Given the description of an element on the screen output the (x, y) to click on. 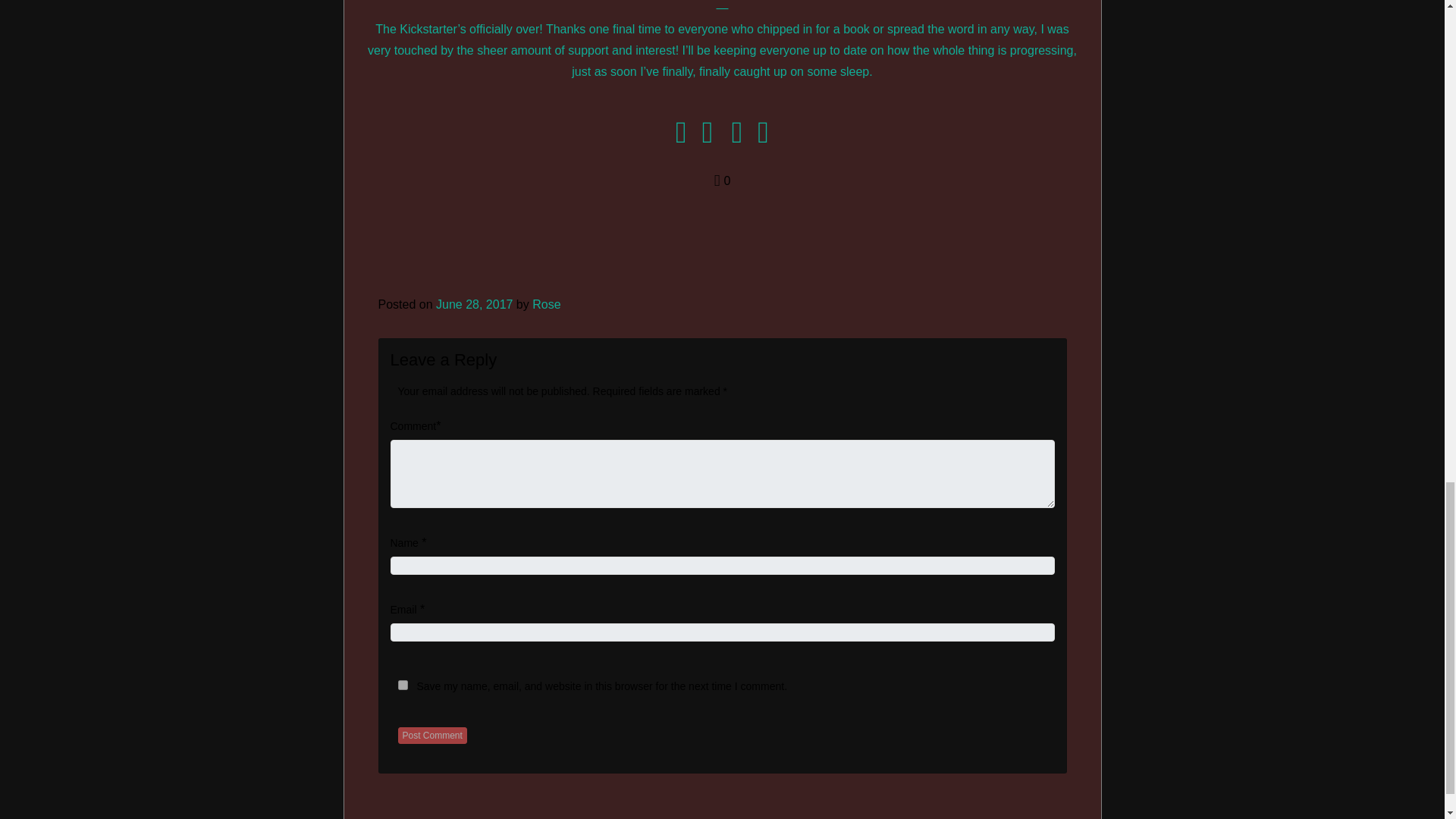
yes (402, 685)
Rose (546, 304)
Post Comment (431, 735)
Post Comment (431, 735)
June 28, 2017 (473, 304)
Page 137 (722, 48)
